Given the description of an element on the screen output the (x, y) to click on. 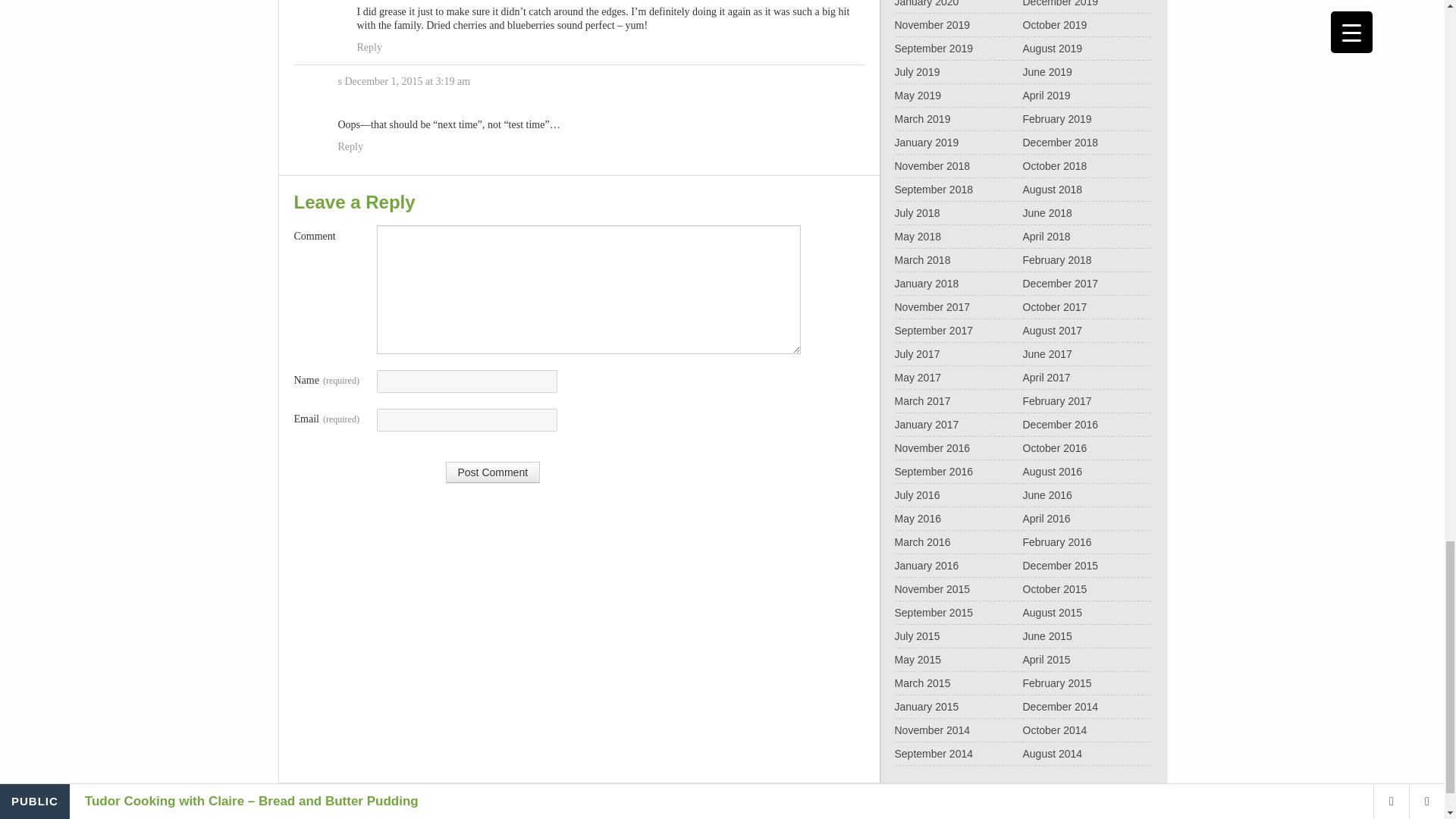
Reply (349, 146)
Post Comment (492, 472)
Post Comment (492, 472)
Reply (368, 47)
